Given the description of an element on the screen output the (x, y) to click on. 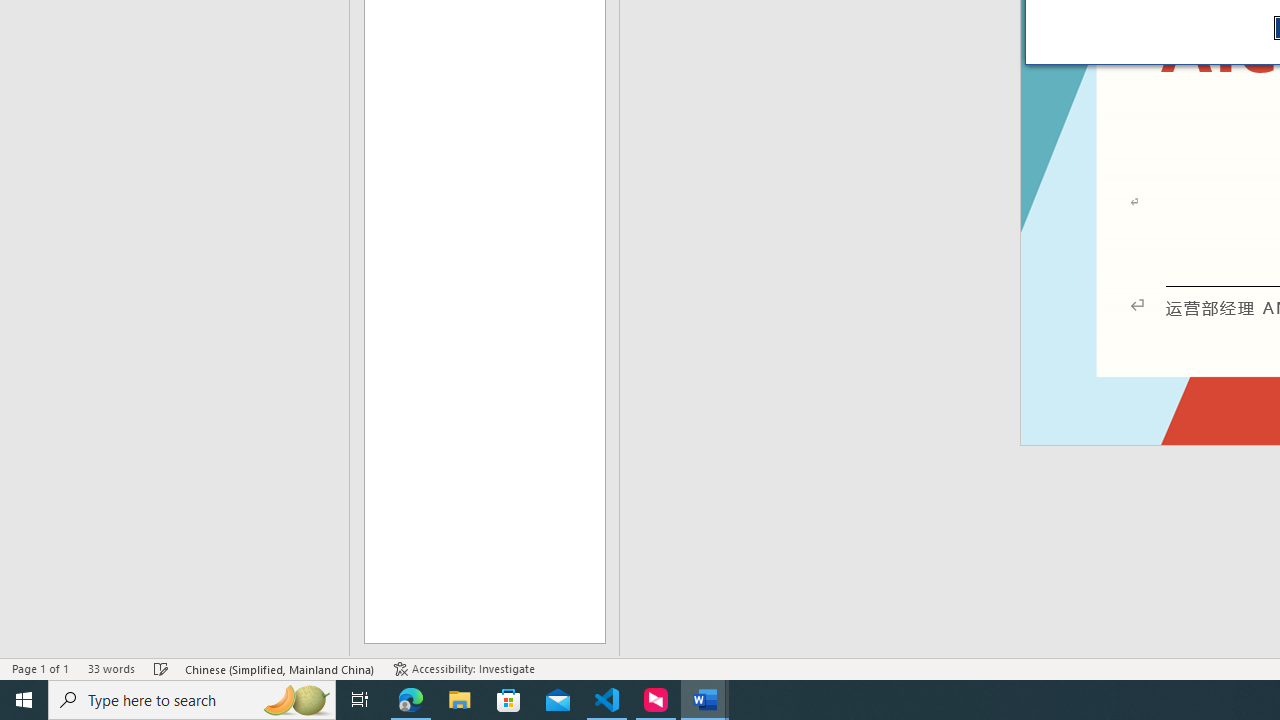
Microsoft Edge - 1 running window (411, 699)
